Given the description of an element on the screen output the (x, y) to click on. 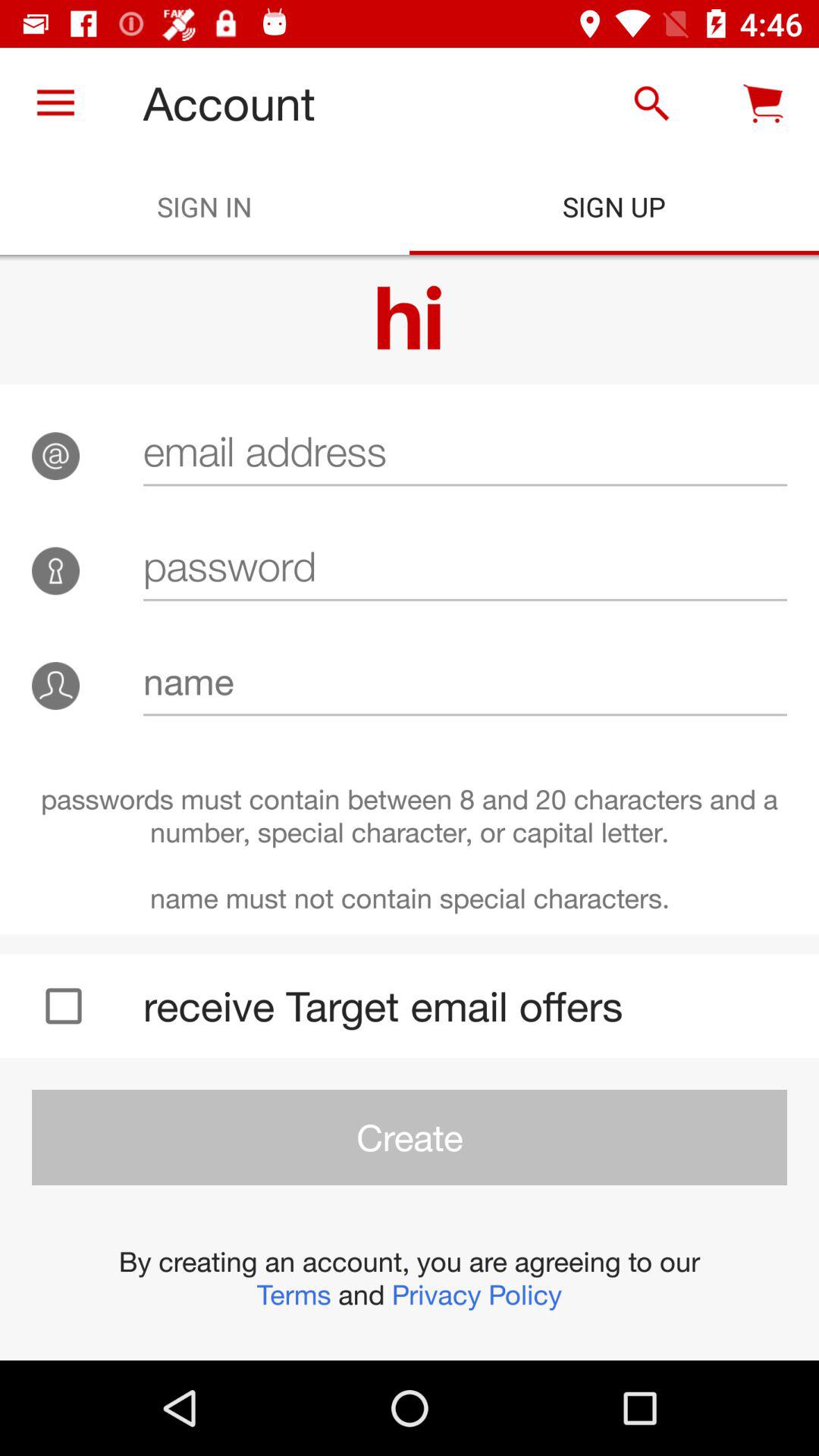
flip until create (409, 1137)
